Given the description of an element on the screen output the (x, y) to click on. 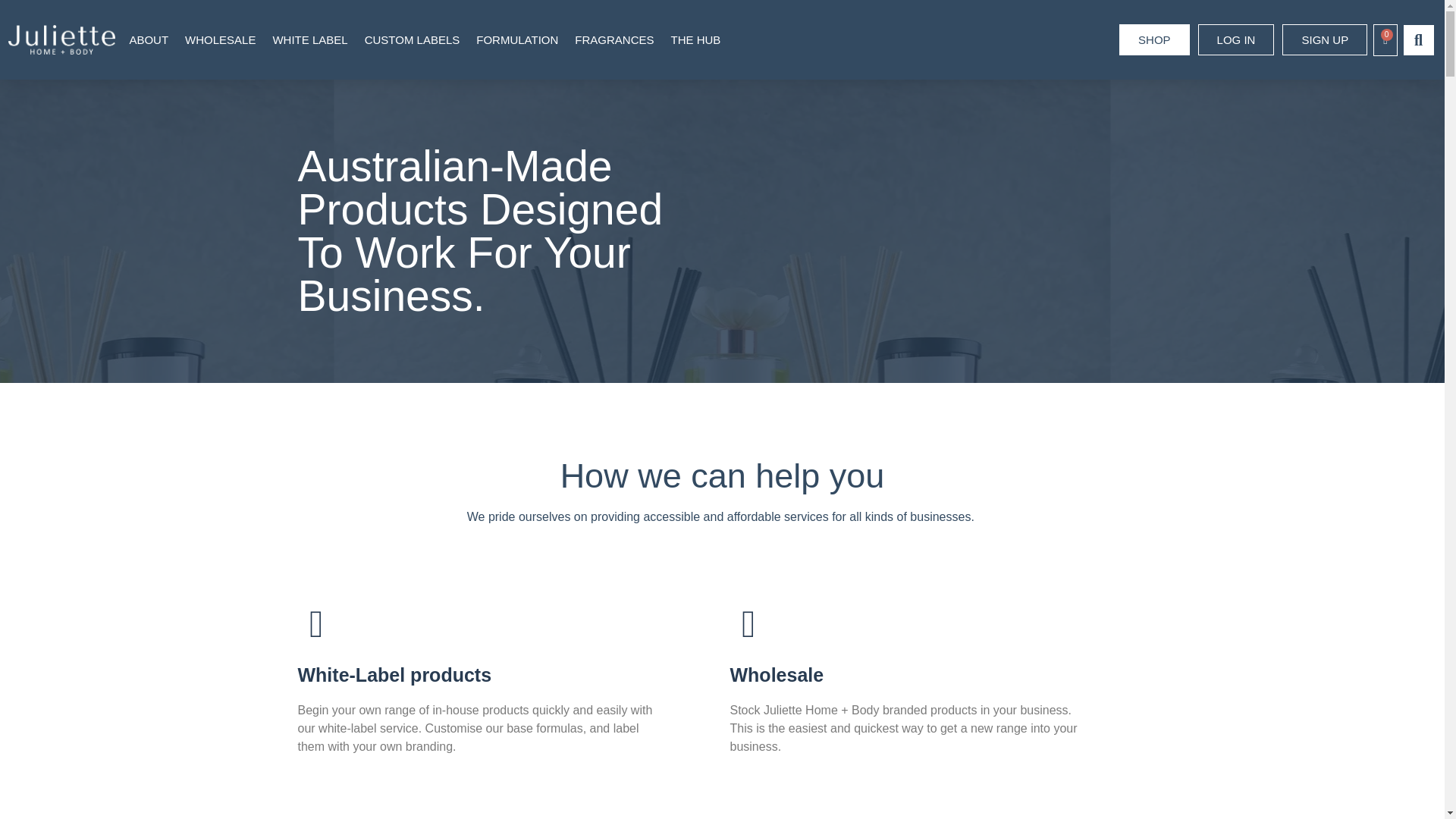
SHOP (1154, 39)
SIGN UP (1324, 39)
THE HUB (695, 39)
FRAGRANCES (614, 39)
FORMULATION (517, 39)
ABOUT (148, 39)
WHOLESALE (220, 39)
CUSTOM LABELS (411, 39)
Wholesale (776, 674)
LOG IN (1236, 39)
